Given the description of an element on the screen output the (x, y) to click on. 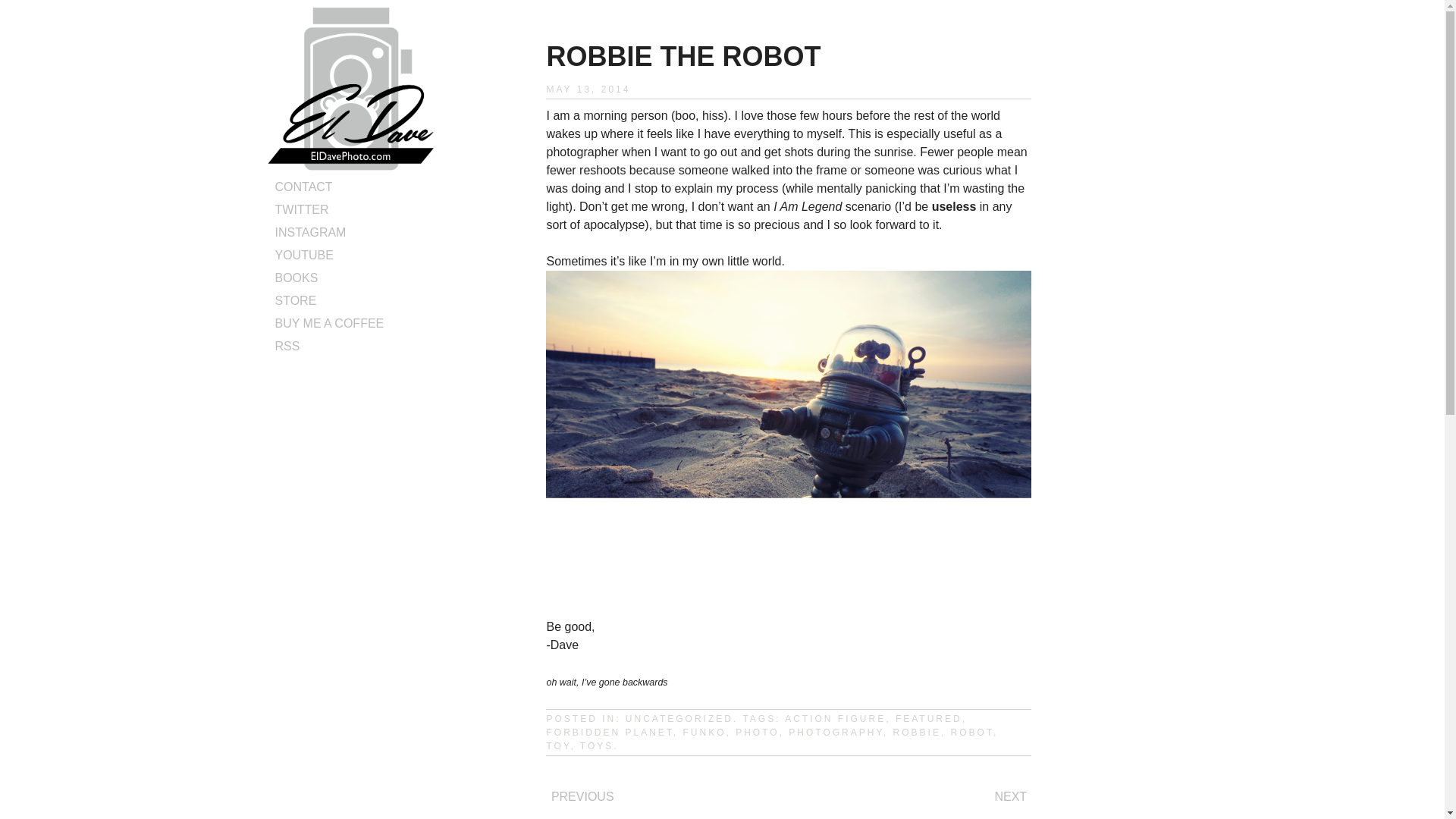
FEATURED (928, 718)
ROBBIE (916, 732)
PHOTOGRAPHY (836, 732)
ROBOT (971, 732)
UNCATEGORIZED (679, 718)
FORBIDDEN PLANET (609, 732)
PHOTO (756, 732)
BUY ME A COFFEE (329, 323)
El Dave Photography (349, 165)
TOYS (595, 746)
TWITTER (302, 209)
ACTION FIGURE (834, 718)
MAY 13, 2014 (588, 89)
RSS (287, 345)
